Given the description of an element on the screen output the (x, y) to click on. 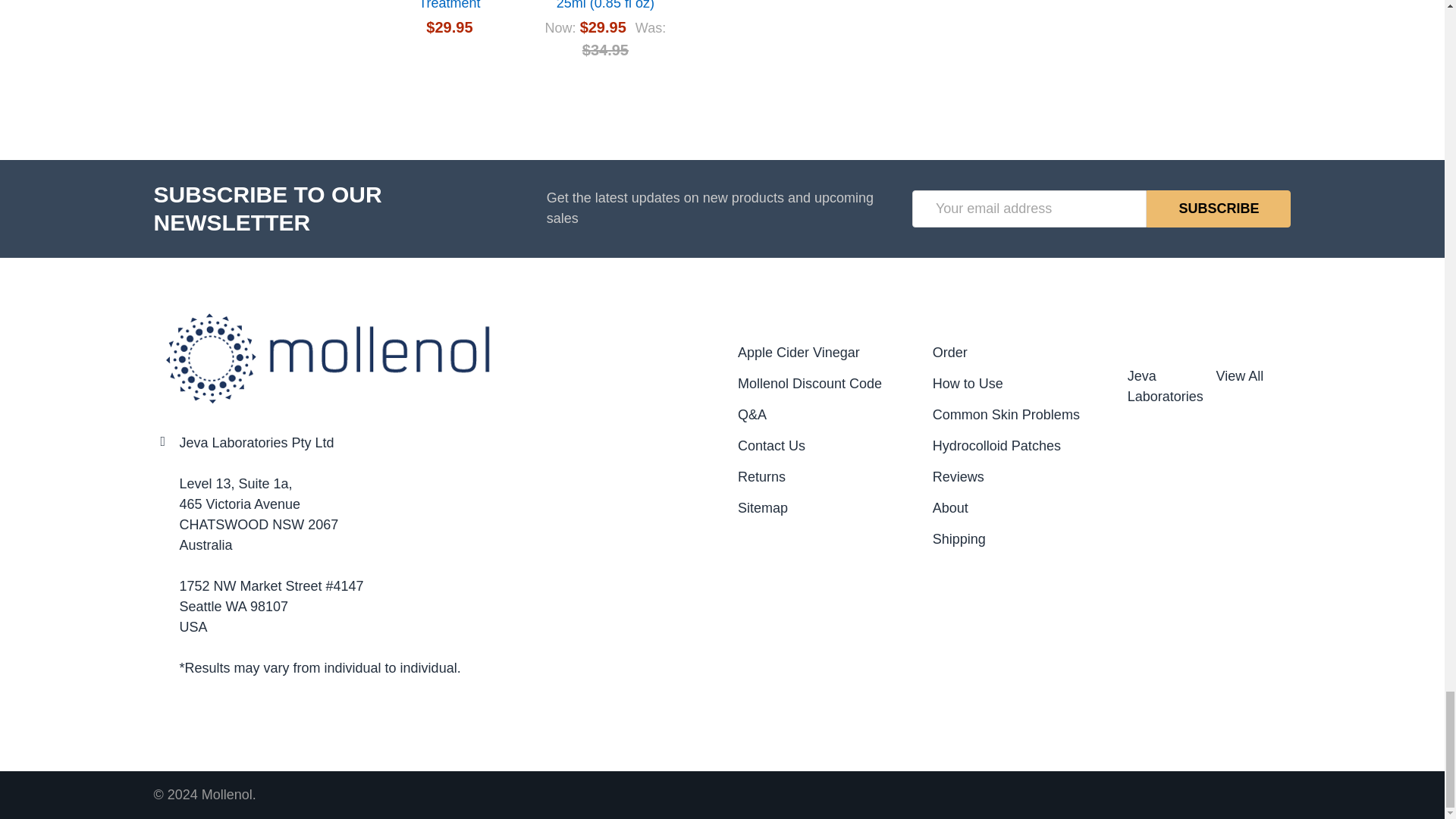
Mollenol (324, 355)
Subscribe (1218, 208)
